Given the description of an element on the screen output the (x, y) to click on. 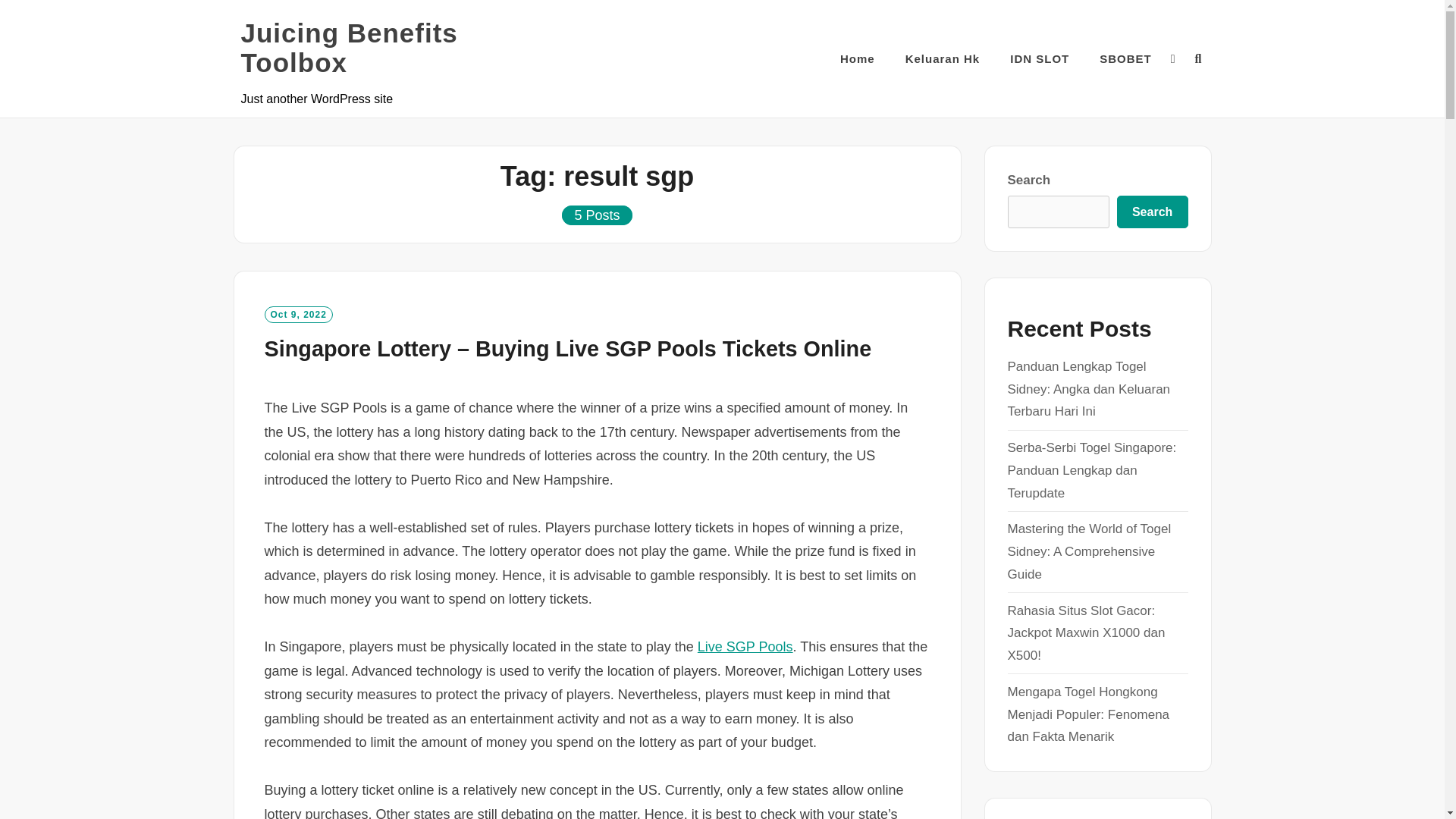
Juicing Benefits Toolbox (392, 47)
Keluaran Hk (942, 57)
IDN SLOT (1039, 57)
Live SGP Pools (745, 646)
Oct 9, 2022 (297, 314)
Home (857, 57)
SBOBET (1125, 57)
Serba-Serbi Togel Singapore: Panduan Lengkap dan Terupdate (1091, 470)
Search (1152, 212)
